Given the description of an element on the screen output the (x, y) to click on. 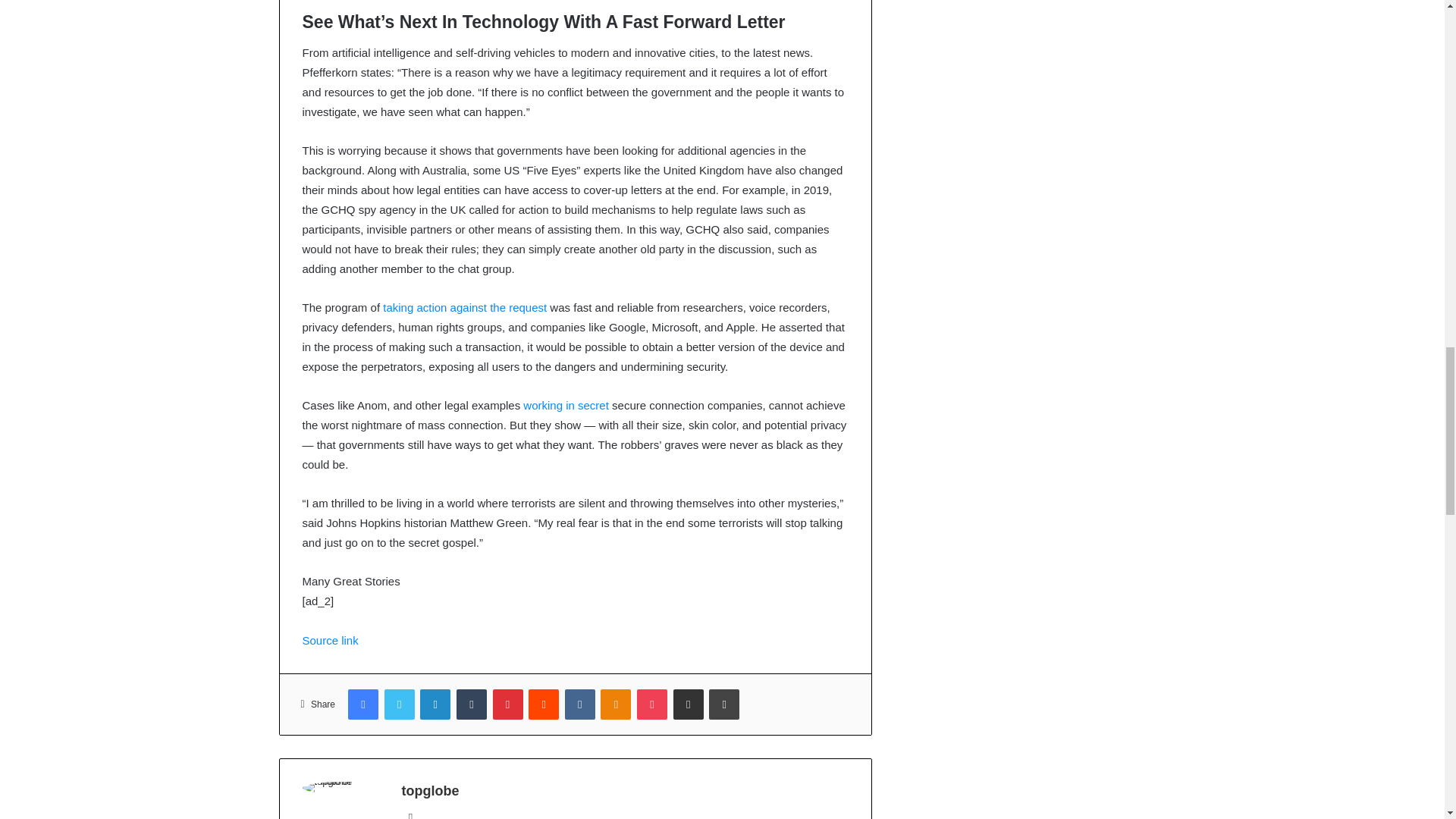
Source link (329, 640)
working in secret (565, 404)
taking action against the request (464, 307)
